Given the description of an element on the screen output the (x, y) to click on. 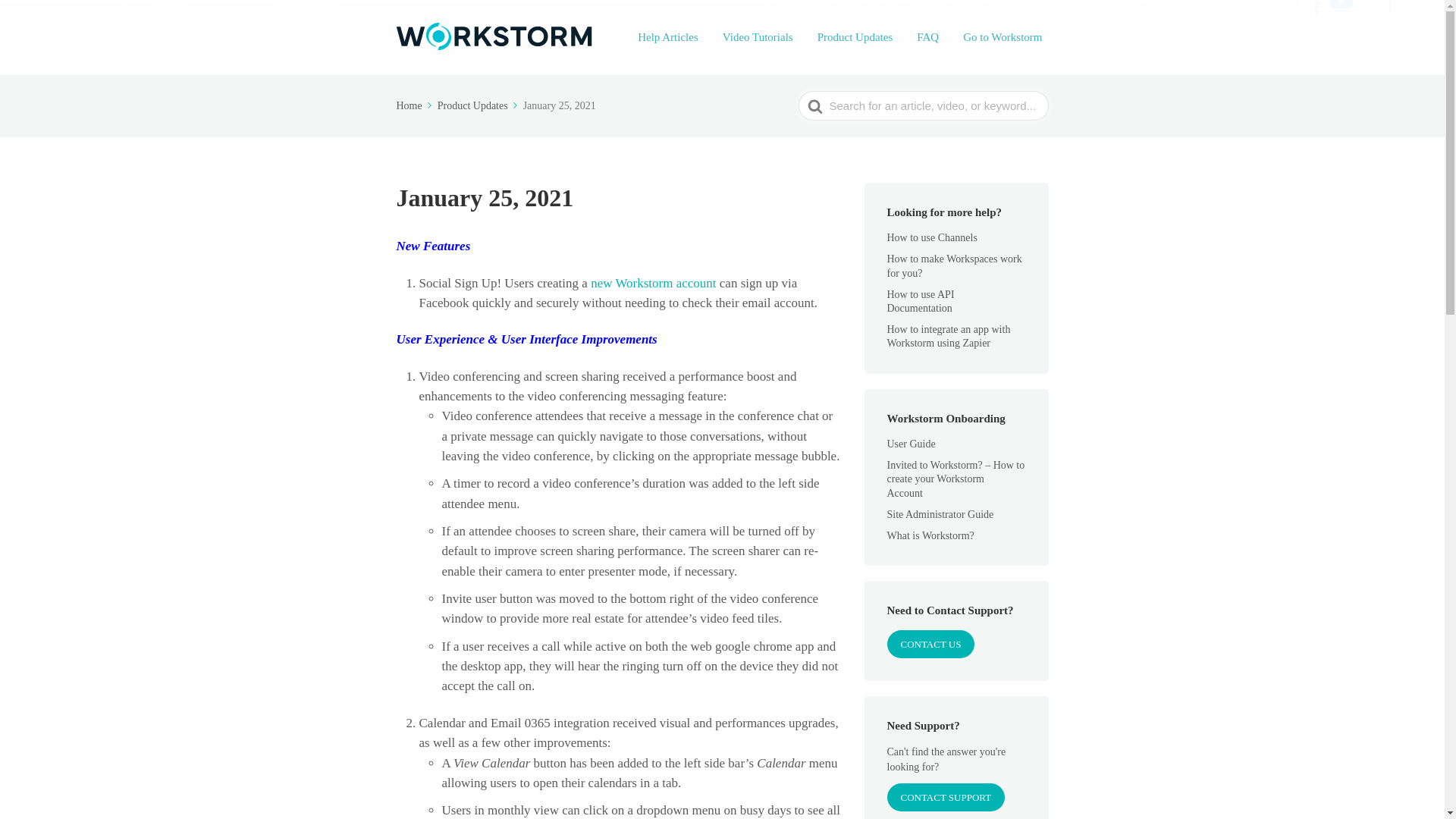
Home (414, 105)
How to use Channels  (942, 237)
Product Updates (854, 37)
What is Workstorm? (939, 535)
How to make Workspaces work for you? (954, 265)
CONTACT US (930, 643)
Video Tutorials (757, 37)
FAQ (927, 37)
Site Administrator Guide (949, 514)
Go to Workstorm (1002, 37)
Help Articles (667, 37)
How to integrate an app with Workstorm using Zapier (948, 335)
Product Updates (478, 105)
How to use API Documentation (928, 301)
new Workstorm account (653, 283)
